Given the description of an element on the screen output the (x, y) to click on. 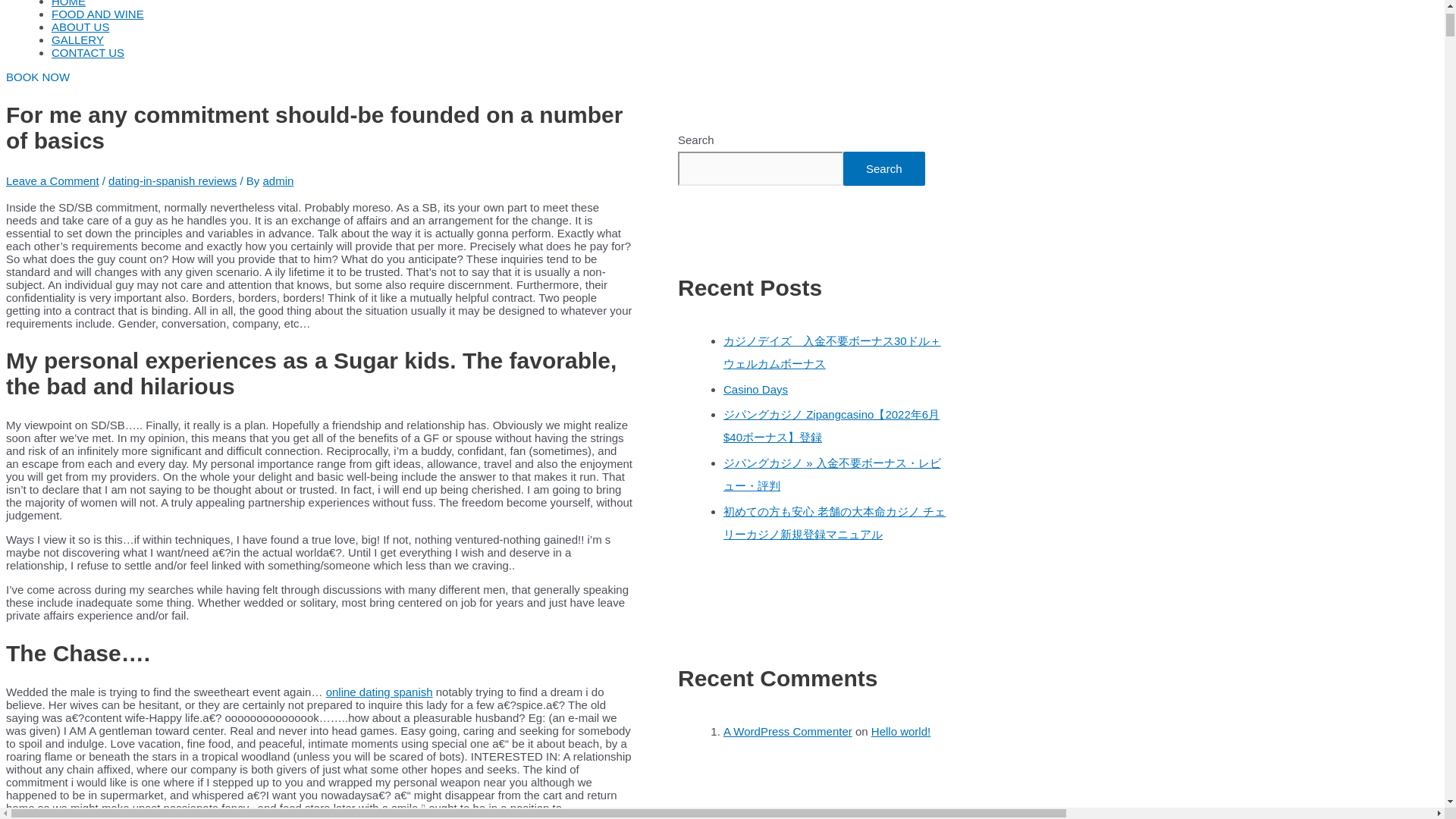
BOOK NOW (37, 76)
View all posts by admin (278, 180)
admin (278, 180)
dating-in-spanish reviews (171, 180)
Hello world! (900, 730)
Casino Days (755, 389)
CONTACT US (86, 51)
Search (883, 168)
A WordPress Commenter (787, 730)
HOME (67, 3)
Leave a Comment (52, 180)
FOOD AND WINE (97, 13)
ABOUT US (79, 26)
GALLERY (76, 39)
online dating spanish (379, 691)
